Given the description of an element on the screen output the (x, y) to click on. 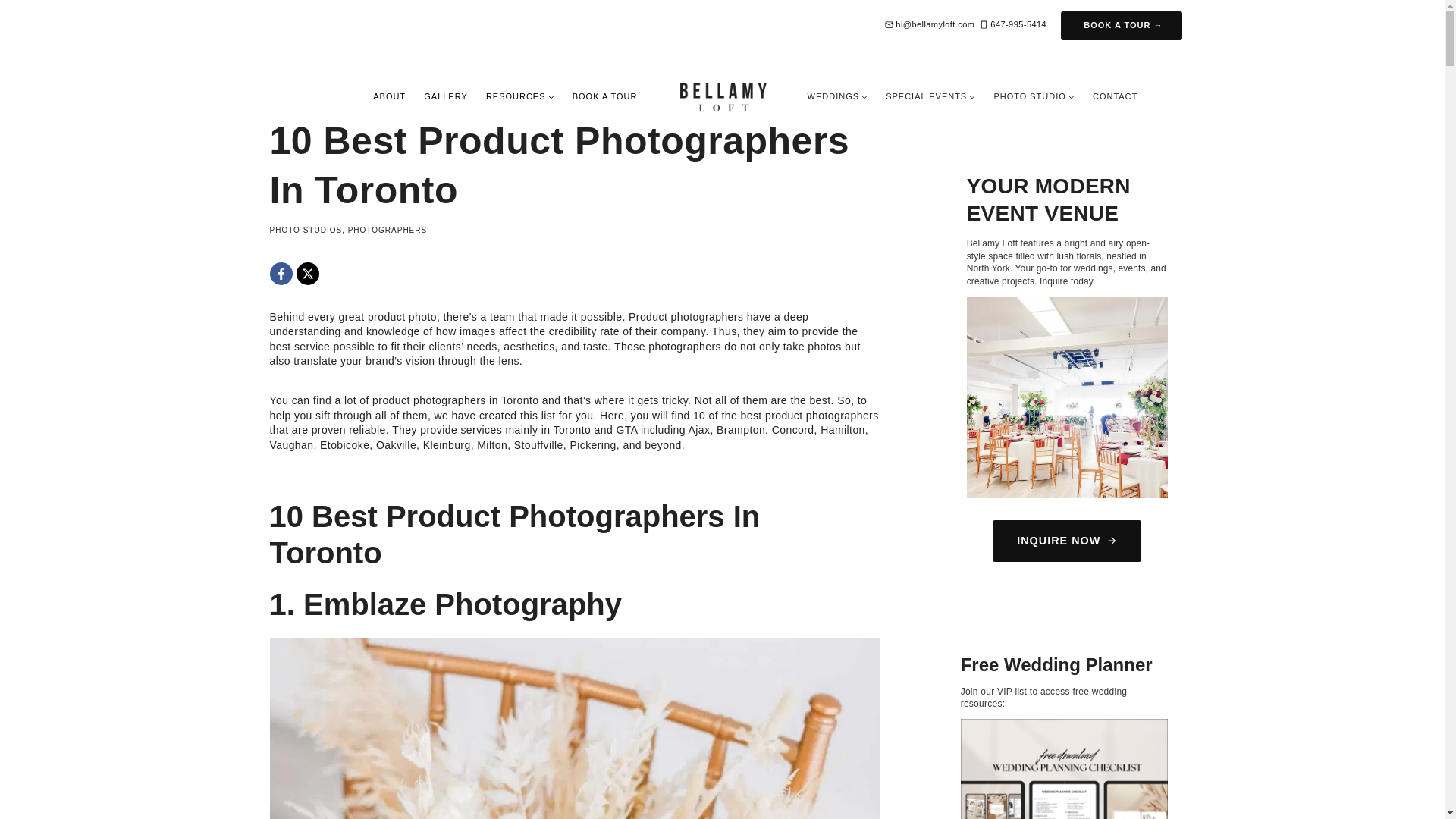
647-995-5414 (1012, 24)
BOOK A TOUR (604, 96)
SPECIAL EVENTS (930, 96)
CONTACT (1115, 96)
click here to inquire today! (1066, 397)
GALLERY (445, 96)
WEDDINGS (836, 96)
PHOTO STUDIO (1033, 96)
RESOURCES (520, 96)
ABOUT (389, 96)
